Given the description of an element on the screen output the (x, y) to click on. 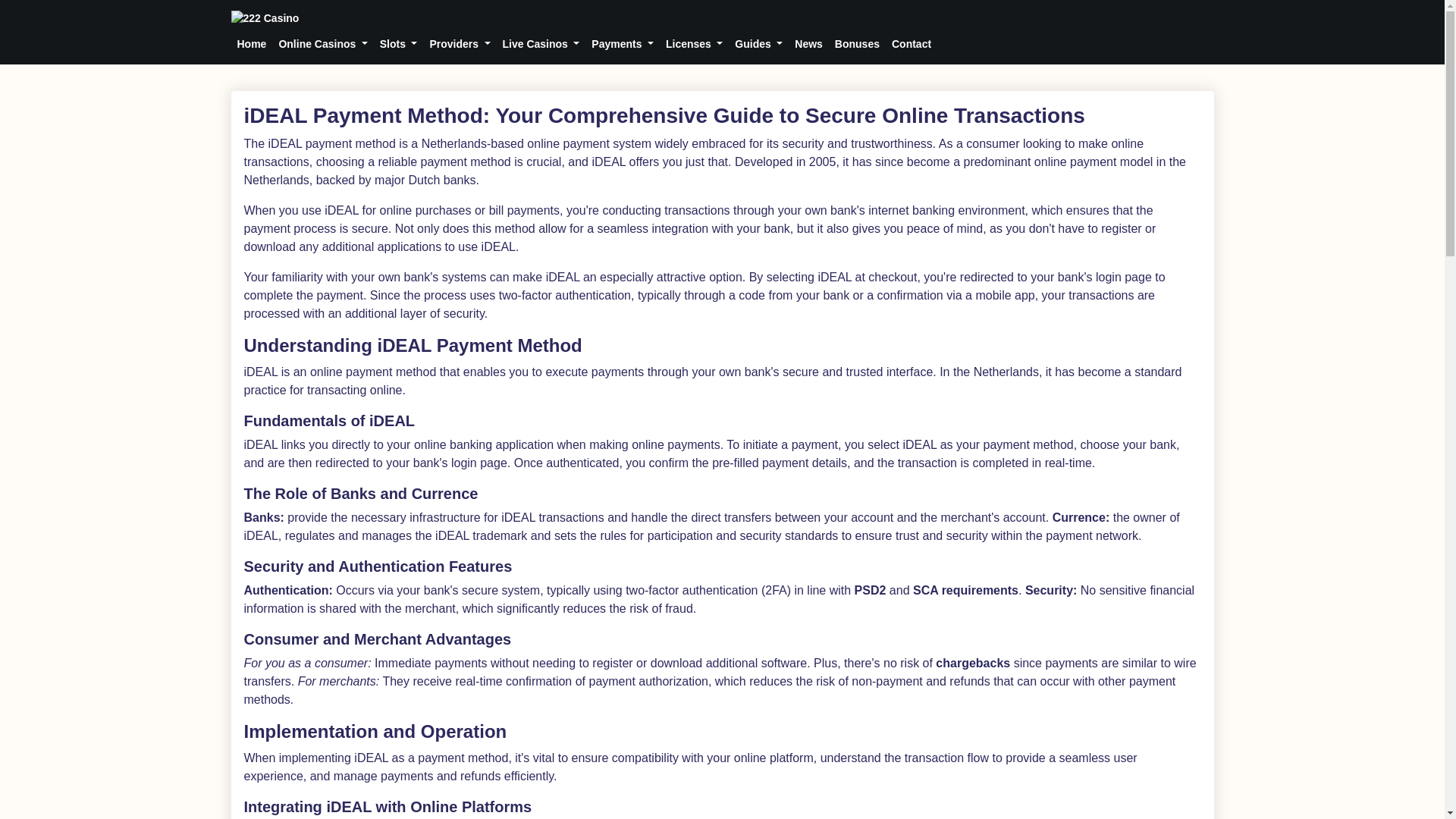
Home (251, 44)
Home (721, 17)
222 Casino (264, 18)
Slots (398, 44)
Online Casinos (322, 44)
